Given the description of an element on the screen output the (x, y) to click on. 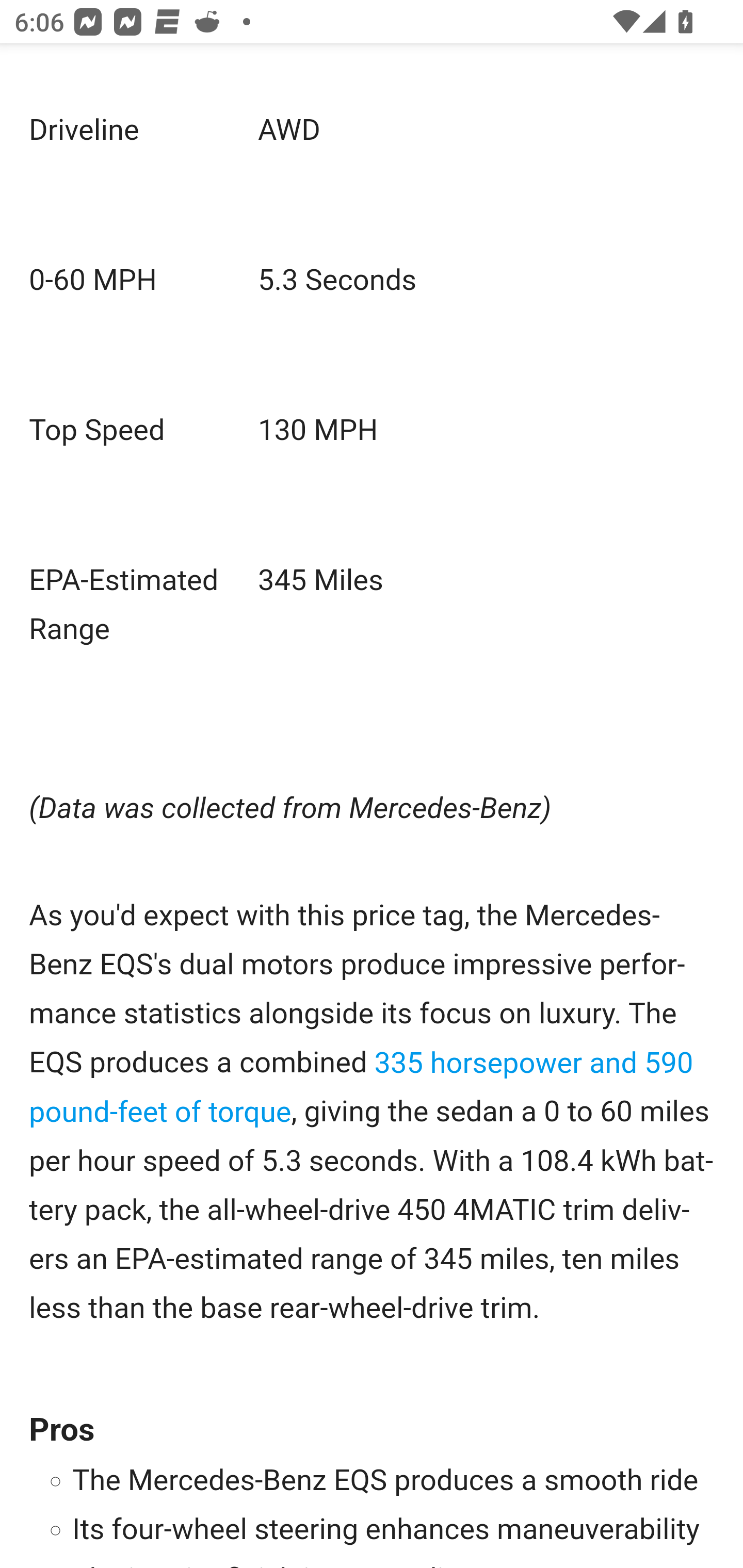
335 horsepower and 590 pound-feet of torque (361, 1087)
